Given the description of an element on the screen output the (x, y) to click on. 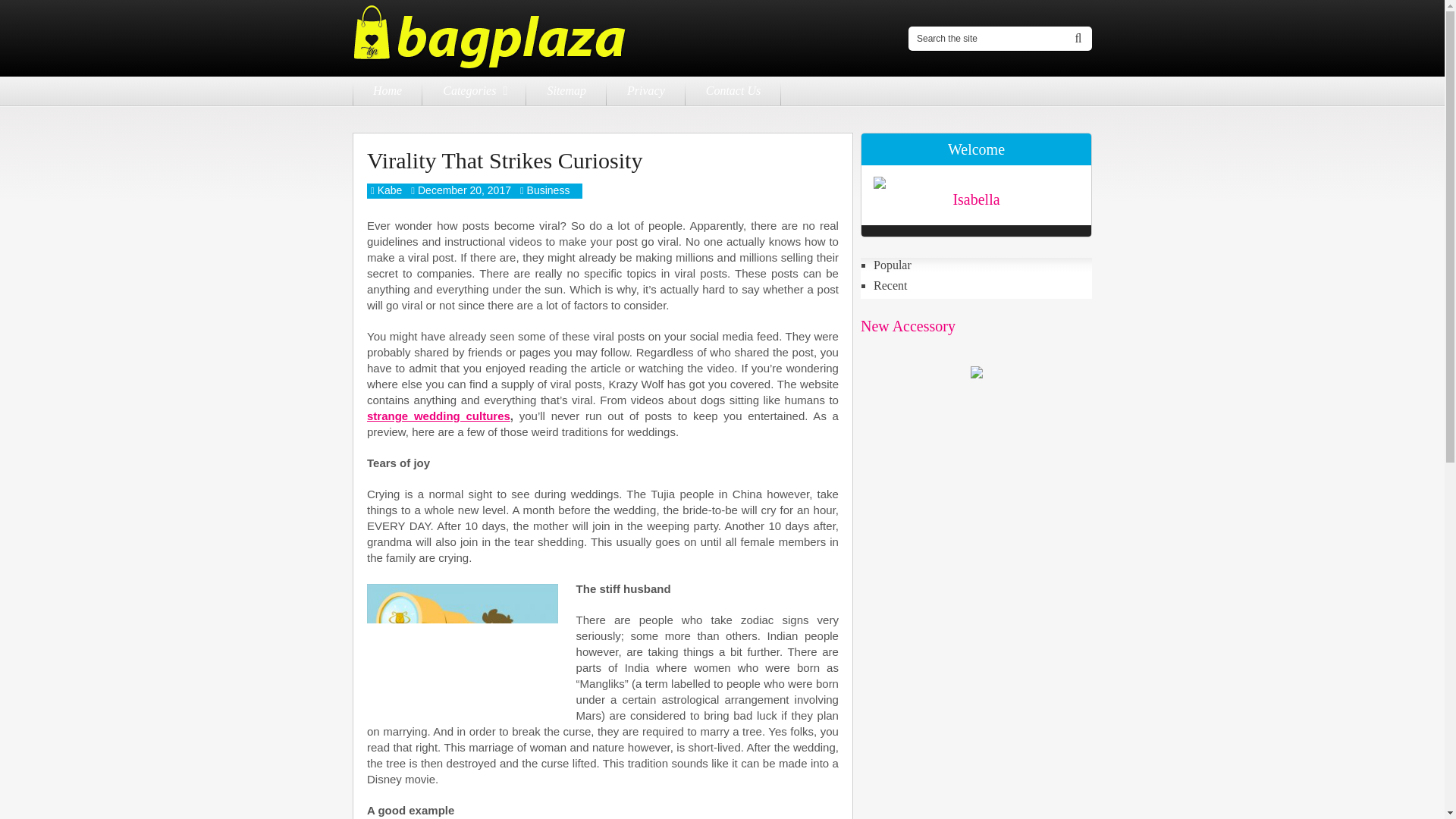
Kabe (390, 190)
strange wedding cultures (438, 415)
Posts by Kabe (390, 190)
Recent (982, 285)
Business (548, 190)
Home (387, 90)
Popular (982, 264)
Privacy (646, 90)
Contact Us (732, 90)
Sitemap (566, 90)
